Given the description of an element on the screen output the (x, y) to click on. 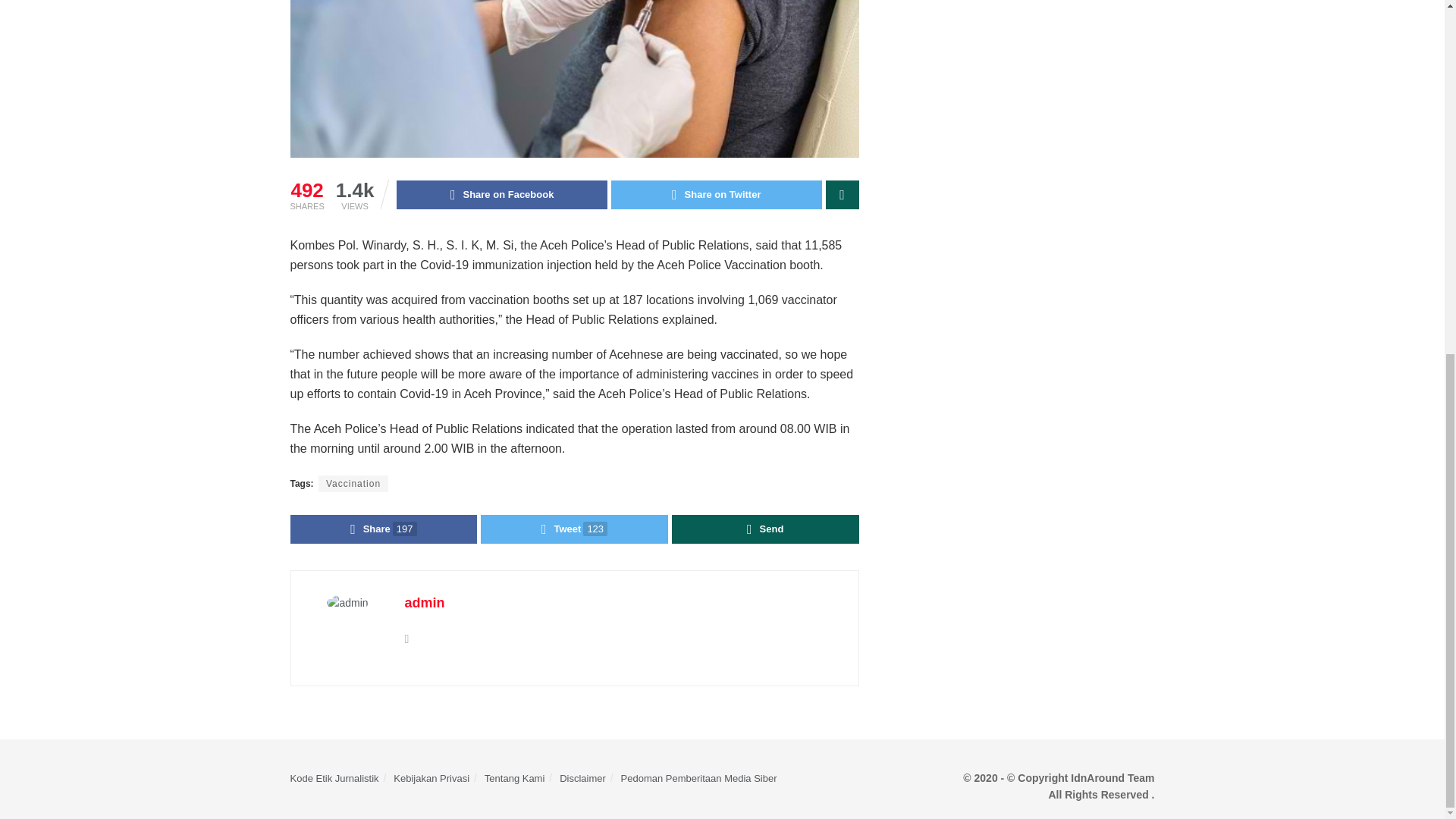
Share on Twitter (716, 194)
Vaccination (353, 483)
Send (765, 529)
Share on Facebook (501, 194)
Share197 (383, 529)
Tweet123 (574, 529)
admin (424, 602)
